Given the description of an element on the screen output the (x, y) to click on. 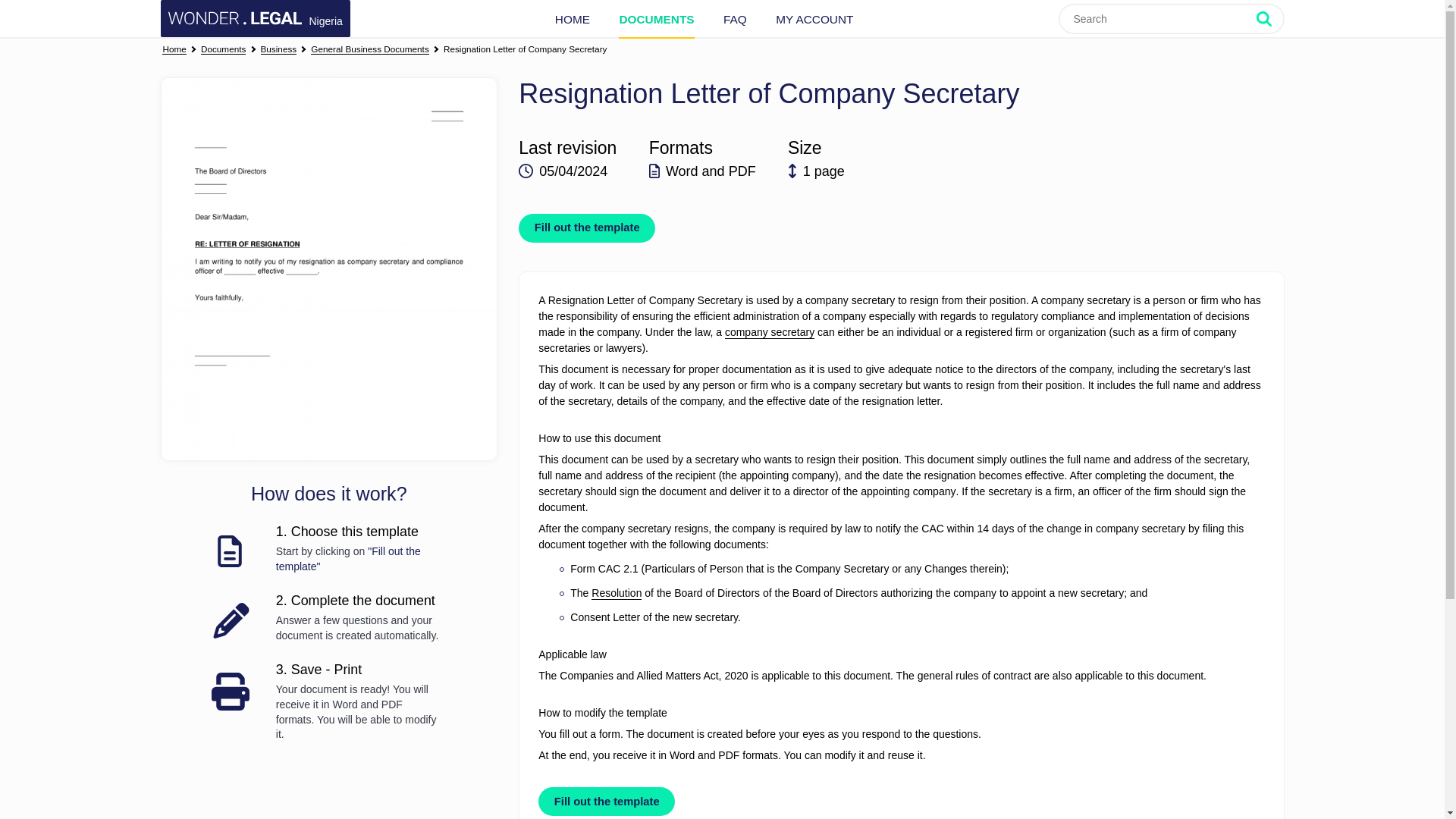
Business (278, 49)
Who Can Act as Company Secretary? (769, 332)
Search (1268, 18)
Wonder.Legal Nigeria (255, 18)
company secretary (769, 332)
MY ACCOUNT (814, 19)
Documents (223, 49)
Search (1268, 18)
Nigeria (255, 18)
Resignation Letter of Company Secretary (525, 49)
Resolution (616, 593)
HOME (571, 19)
Search (1268, 18)
Home (173, 49)
Fill out the template (586, 227)
